Given the description of an element on the screen output the (x, y) to click on. 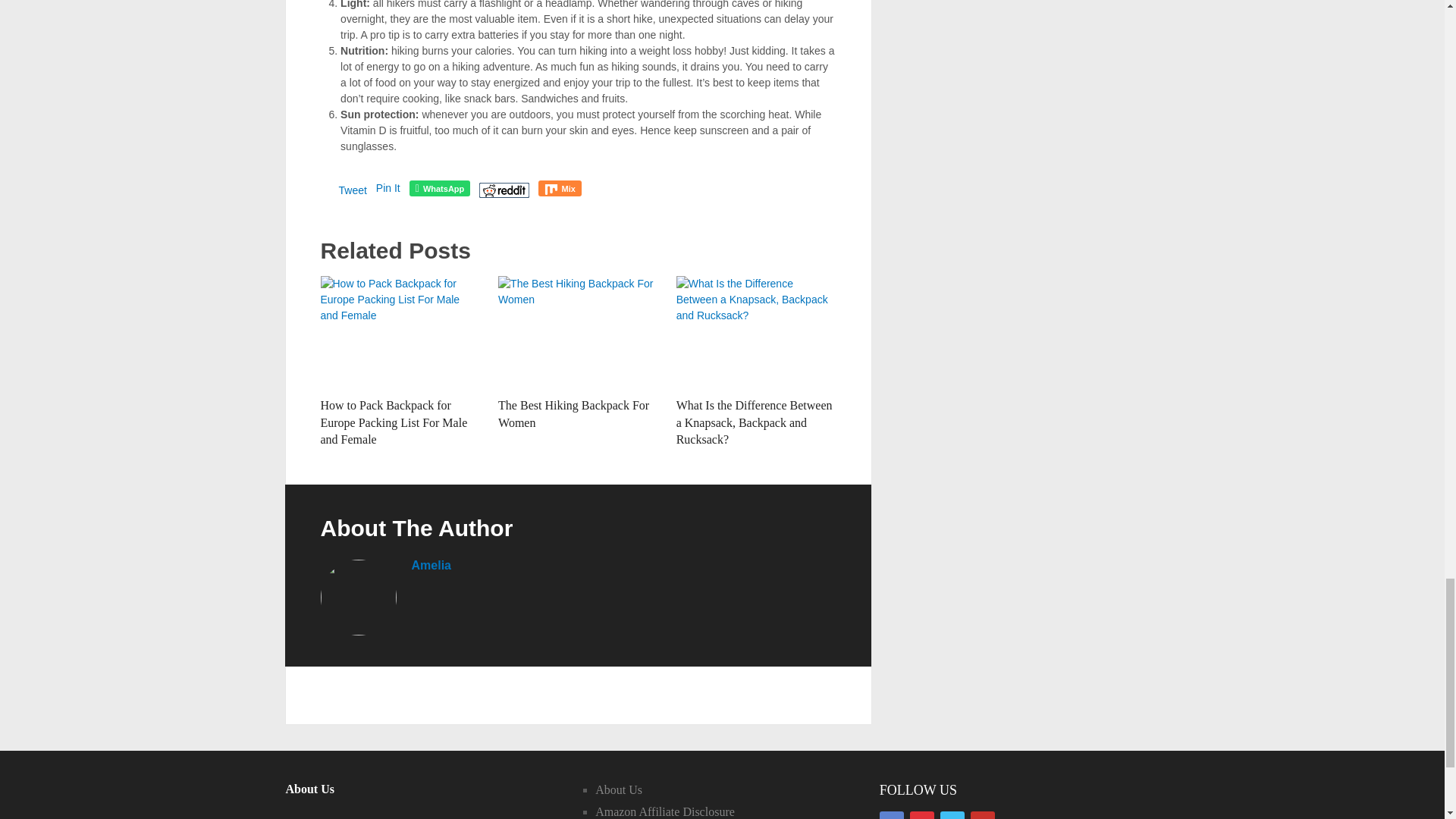
The Best Hiking Backpack For Women (577, 332)
